Given the description of an element on the screen output the (x, y) to click on. 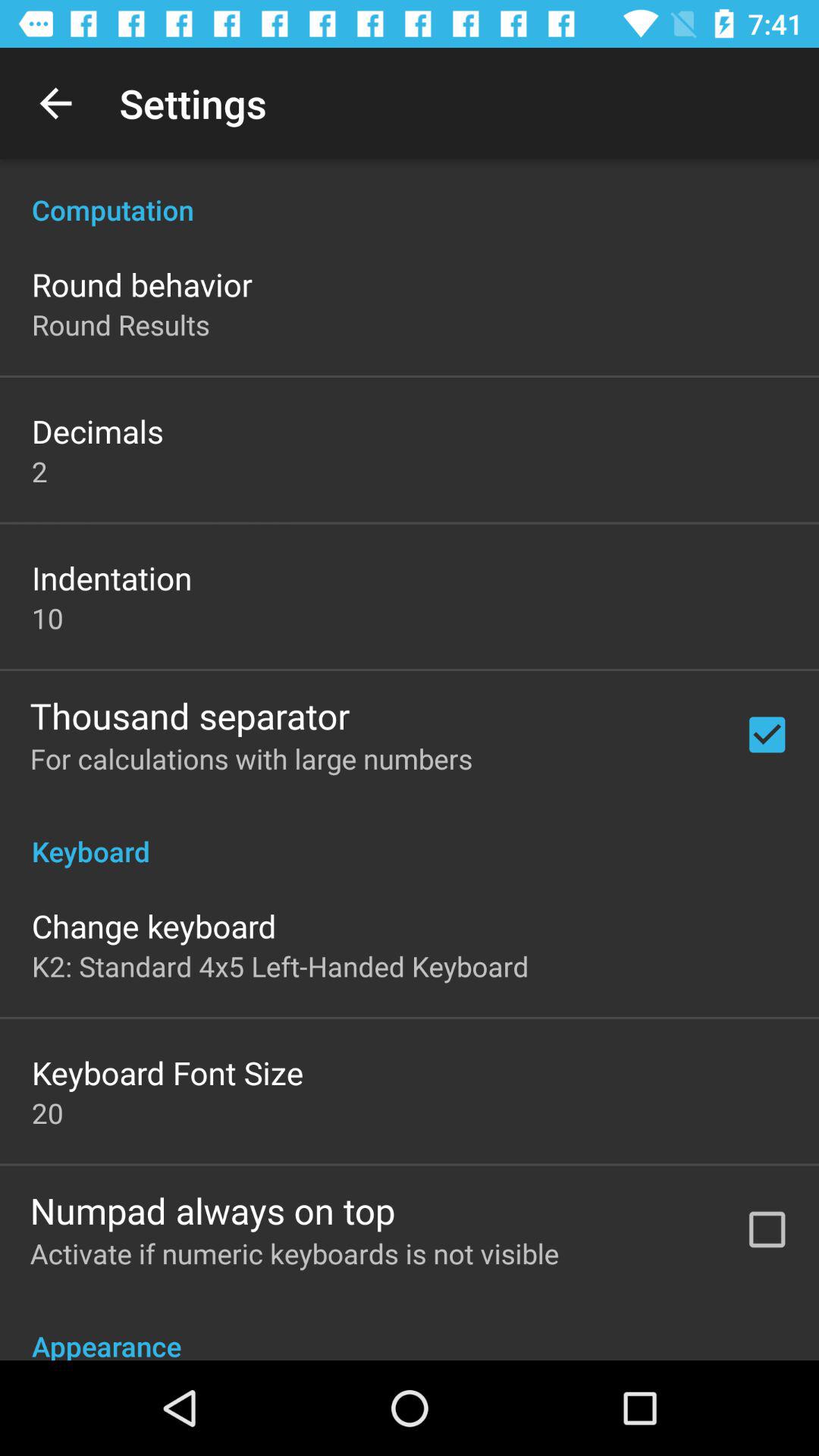
open the item below the 2 icon (111, 577)
